Given the description of an element on the screen output the (x, y) to click on. 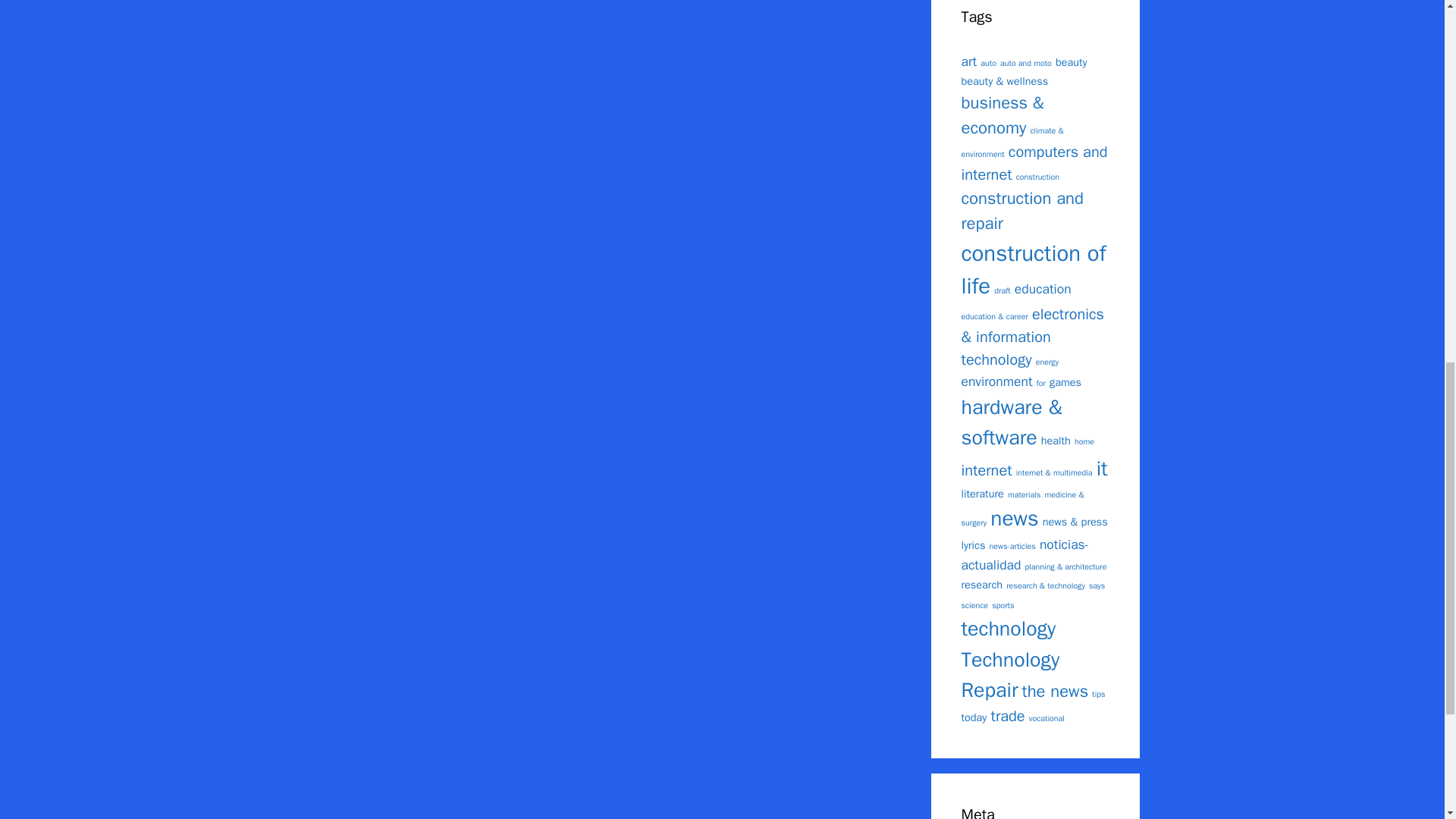
construction of life (1033, 270)
games (1065, 382)
for (1040, 383)
energy (1046, 361)
construction (1037, 176)
home (1084, 441)
draft (1002, 290)
art (968, 61)
computers and internet (1034, 163)
beauty (1071, 60)
